Given the description of an element on the screen output the (x, y) to click on. 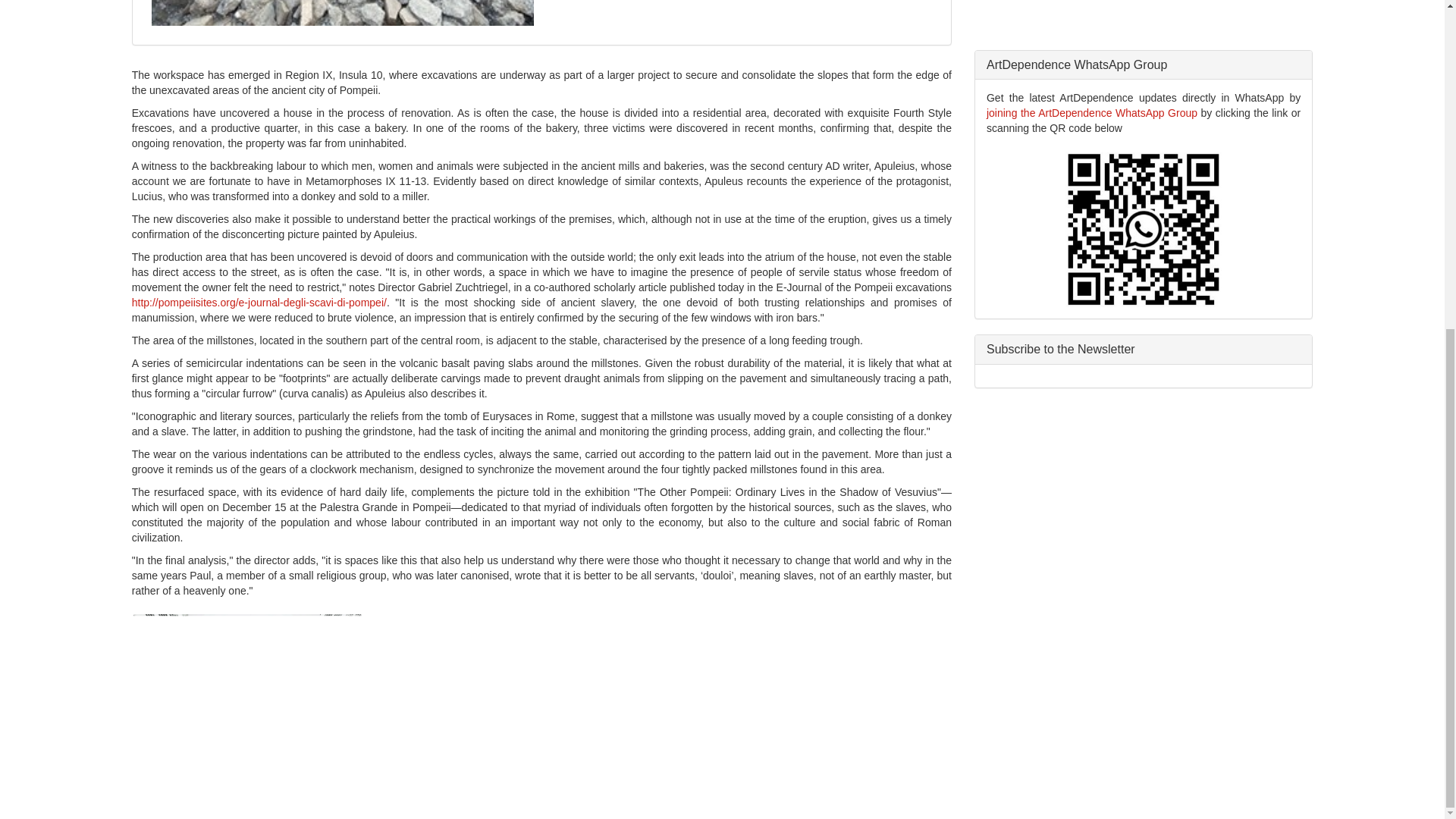
WhatsApp (1091, 112)
joining the ArtDependence WhatsApp Group (1091, 112)
